Given the description of an element on the screen output the (x, y) to click on. 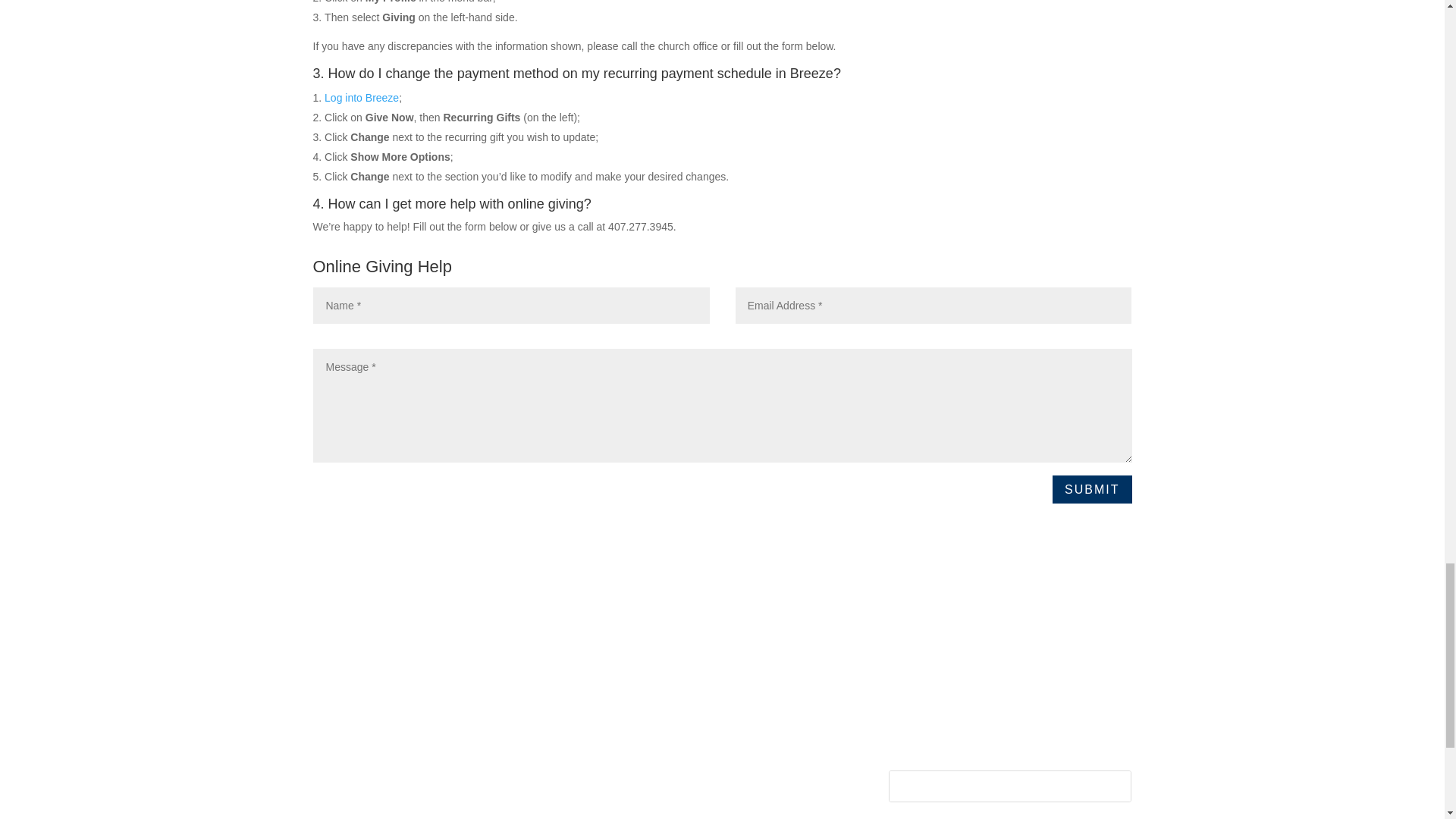
Follow on X (930, 729)
Follow on Facebook (900, 729)
Log into Breeze (361, 97)
Search (1104, 786)
Follow on Youtube (991, 729)
SUBMIT (1091, 489)
Search (1104, 786)
Search (1104, 786)
Follow on Instagram (961, 729)
